Given the description of an element on the screen output the (x, y) to click on. 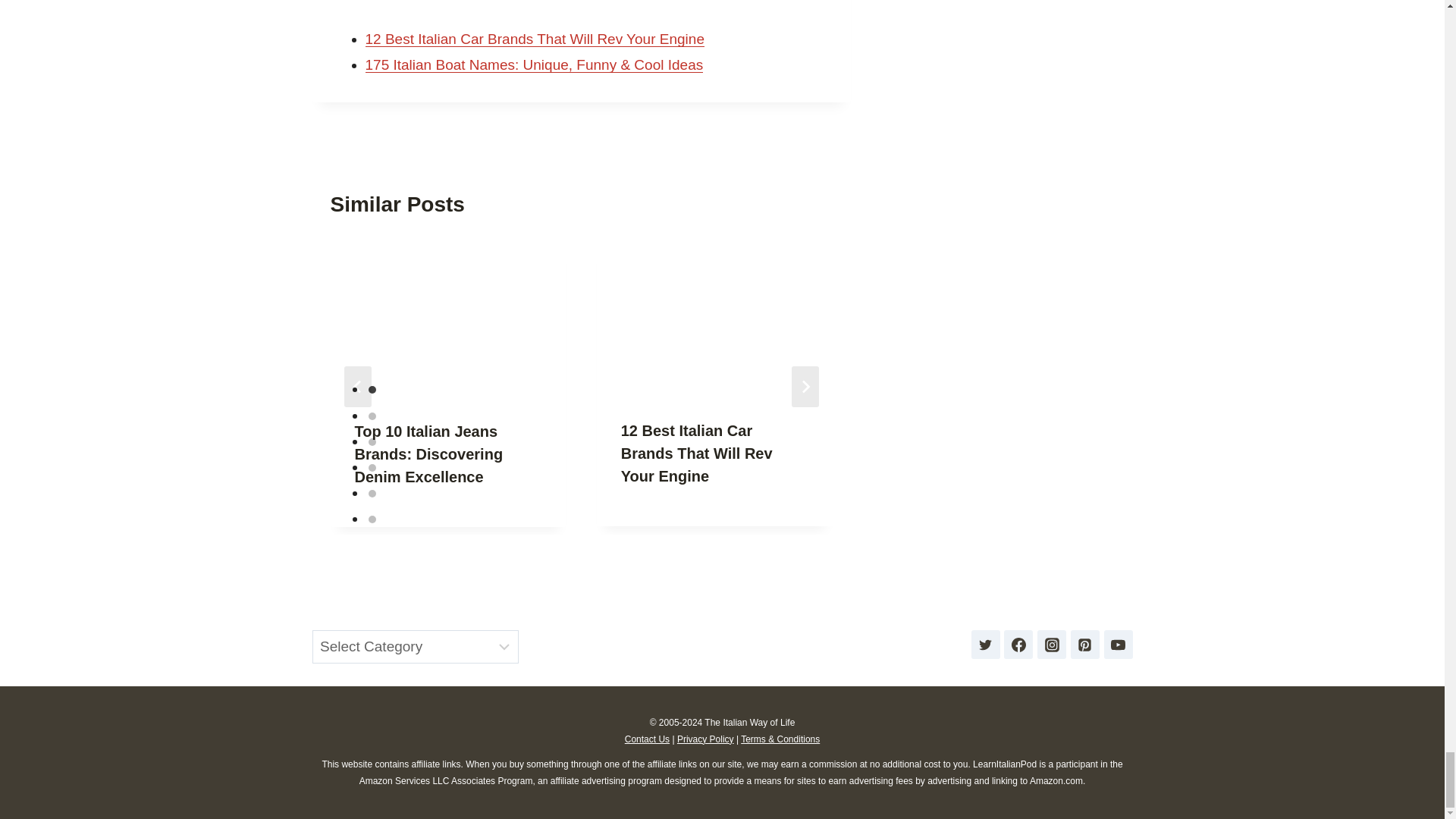
12 Best Italian Car Brands That Will Rev Your Engine (534, 38)
